Given the description of an element on the screen output the (x, y) to click on. 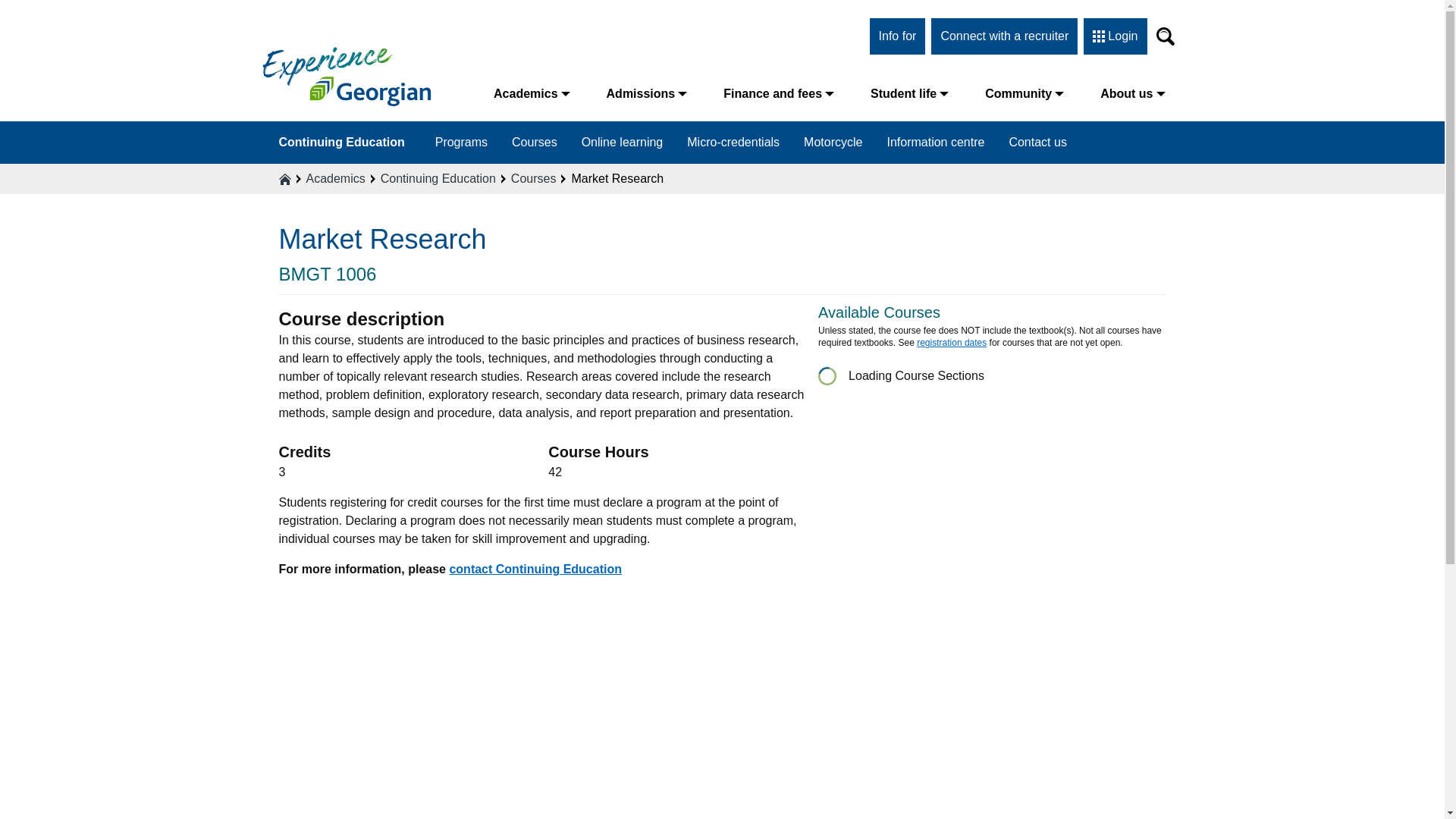
Finance and fees (777, 93)
Community (1023, 93)
Info for (897, 36)
Login (1115, 36)
Georgian College (345, 75)
About us (1131, 93)
Student life (908, 93)
Academics (532, 93)
Georgian College (345, 75)
